Given the description of an element on the screen output the (x, y) to click on. 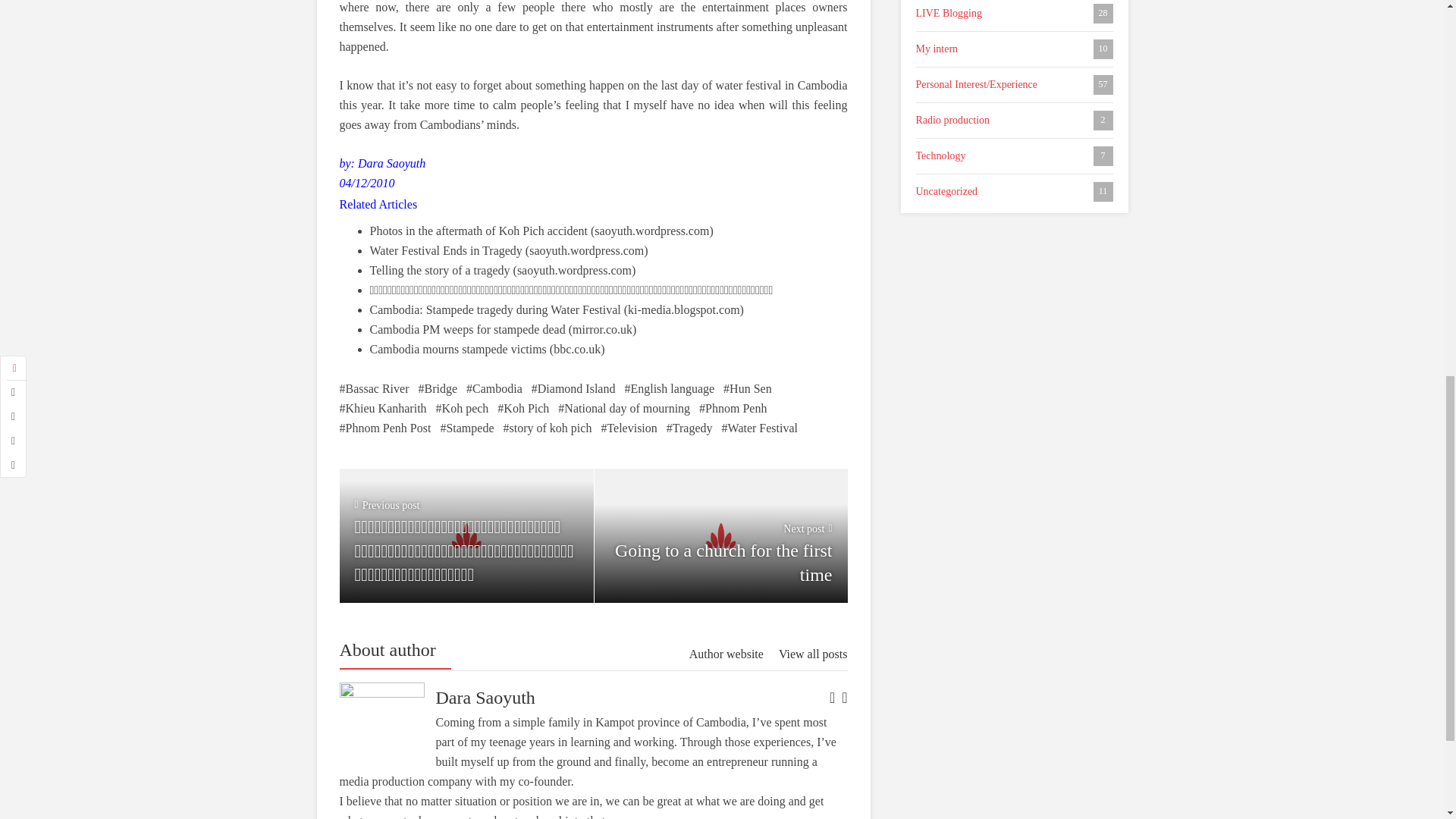
Cambodia PM weeps for stampede dead (467, 328)
Koh pech (462, 408)
Telling the Story of a tragedy (440, 269)
Photos in the aftermath of Koh Pich accident (478, 230)
English language (669, 388)
Cambodia: Stampede tragedy during Water Festival (495, 309)
Diamond Island (573, 388)
Cambodia (720, 535)
Phnom Penh (493, 388)
